Given the description of an element on the screen output the (x, y) to click on. 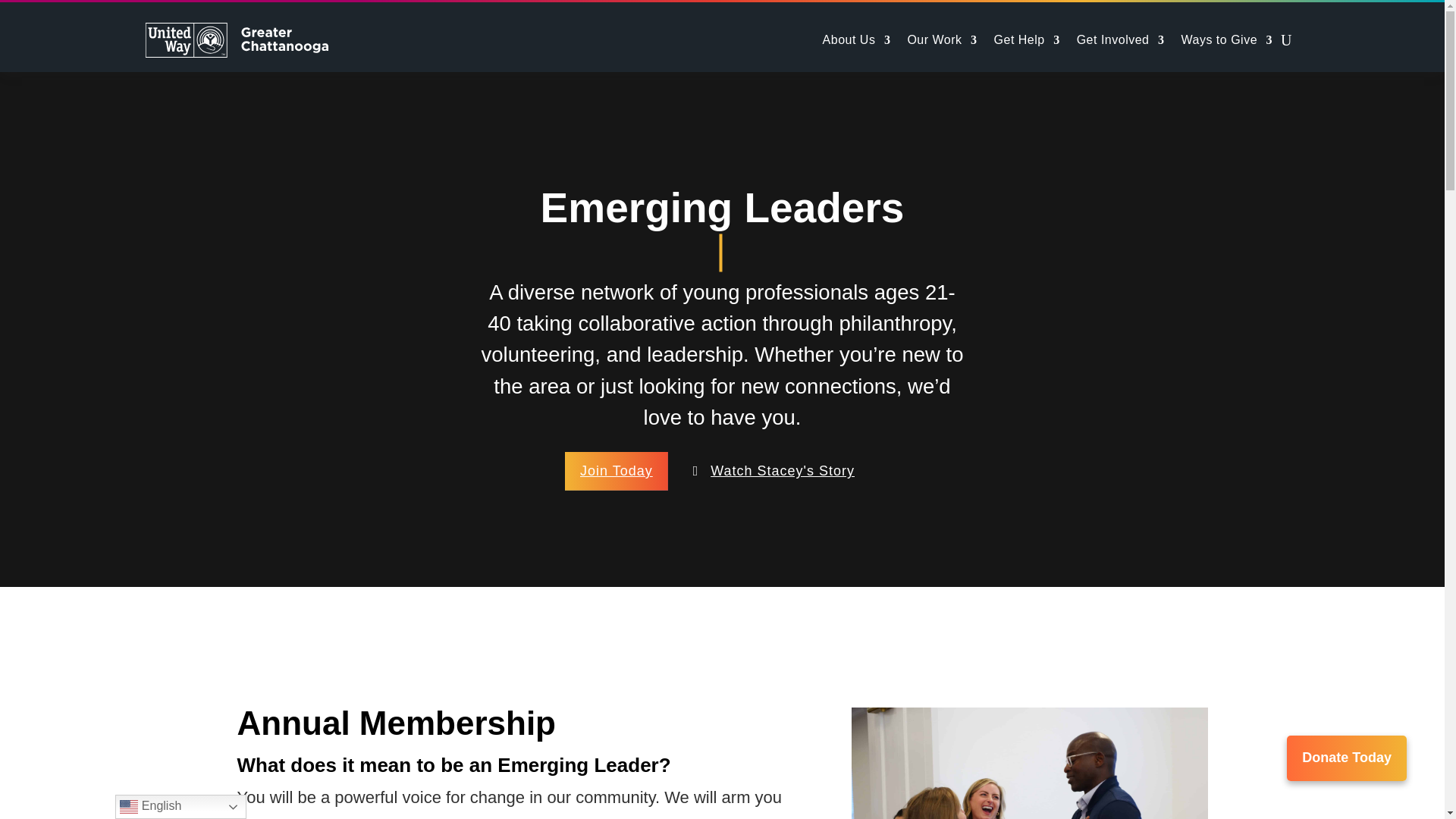
Stacey Website Photo EL (1029, 763)
Our Work (941, 39)
Get Help (1026, 39)
Ways to Give (1226, 39)
Get Involved (1120, 39)
About Us (856, 39)
